Given the description of an element on the screen output the (x, y) to click on. 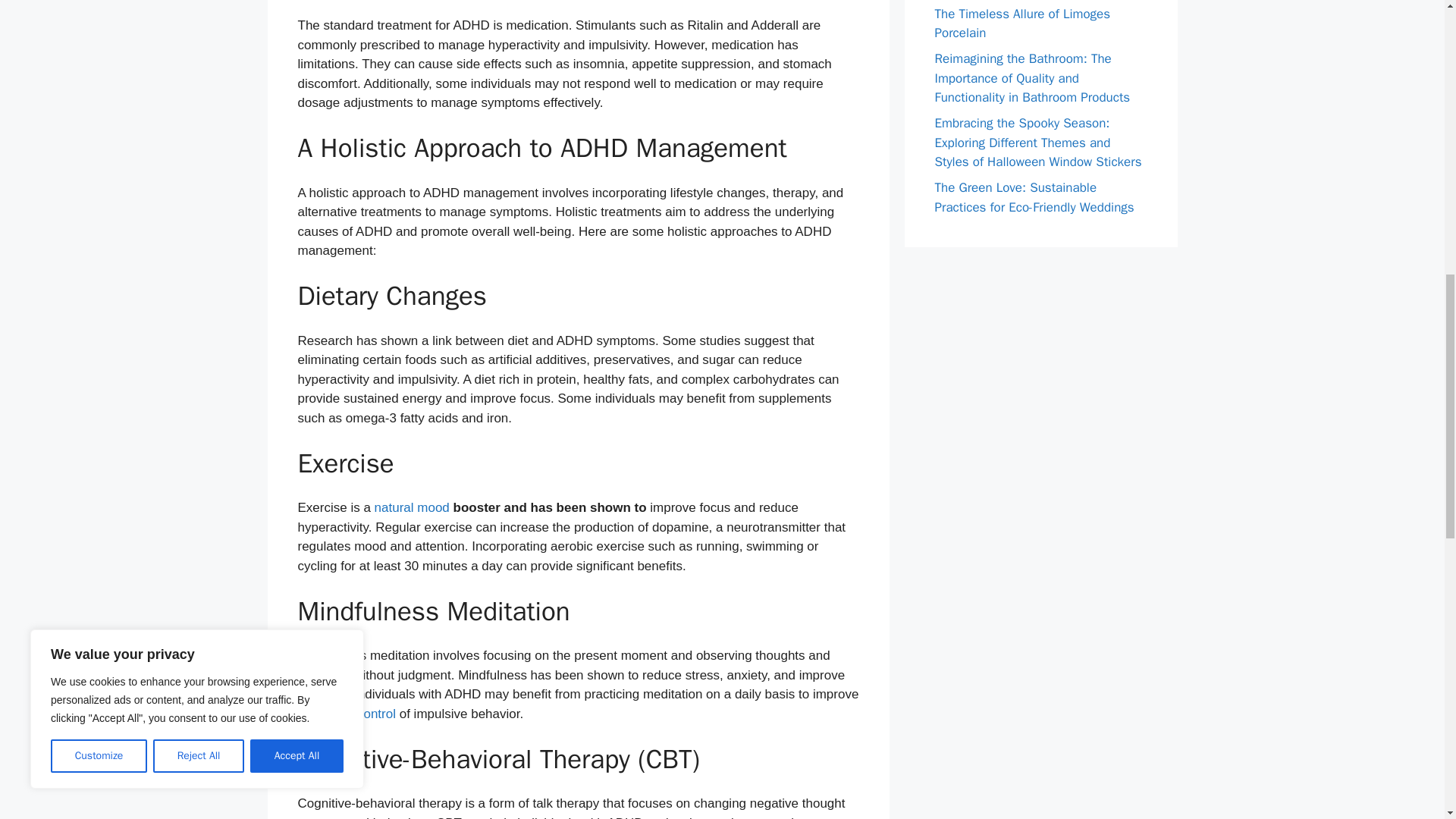
natural mood (411, 507)
control (376, 713)
